Given the description of an element on the screen output the (x, y) to click on. 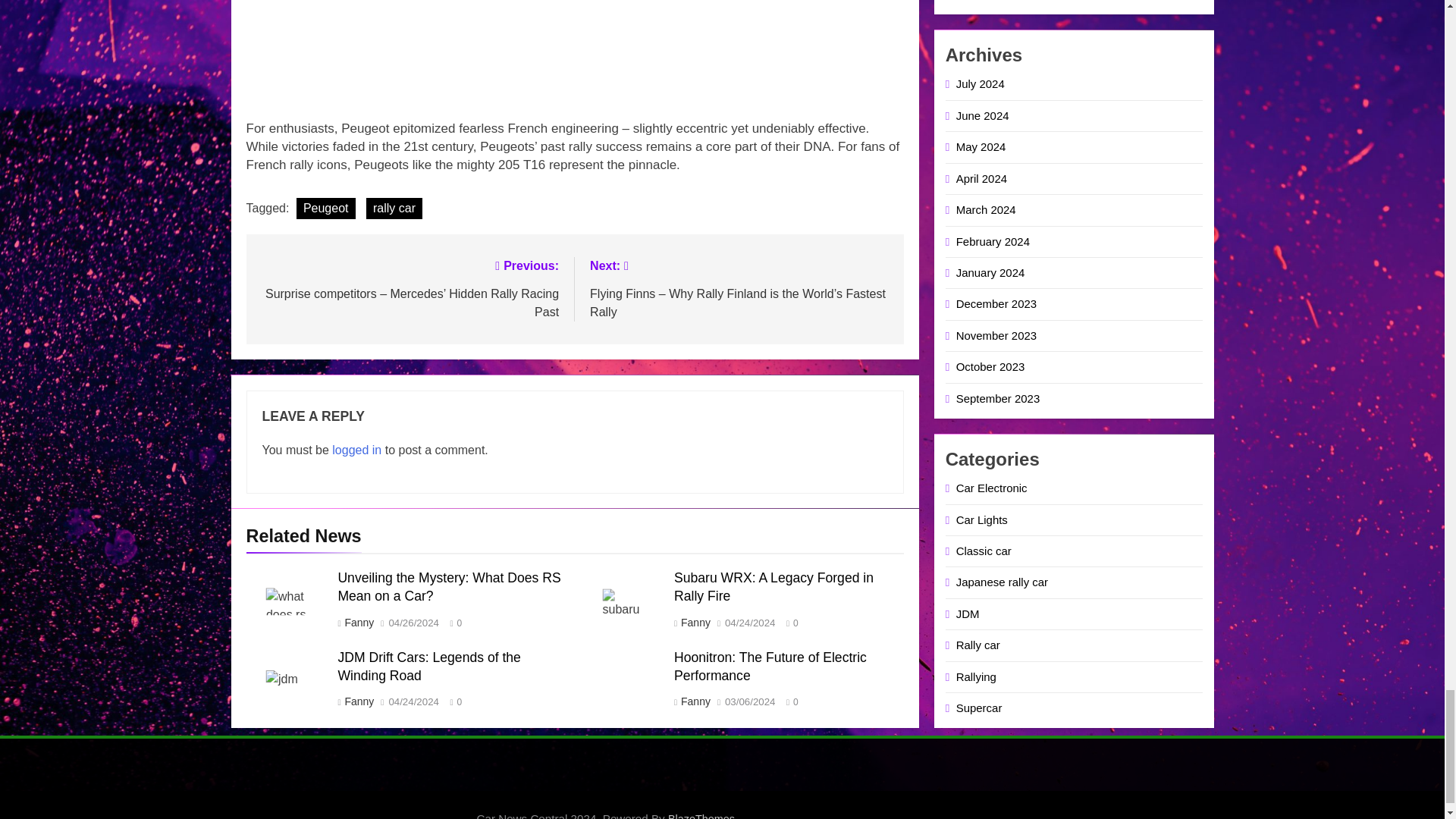
logged in (356, 449)
rally car (394, 208)
0 (787, 621)
Subaru WRX: A Legacy Forged in Rally Fire (773, 586)
Fanny (357, 622)
0 (451, 621)
Unveiling the Mystery: What Does RS Mean on a Car? (448, 586)
Peugeot (326, 208)
Fanny (695, 622)
